Given the description of an element on the screen output the (x, y) to click on. 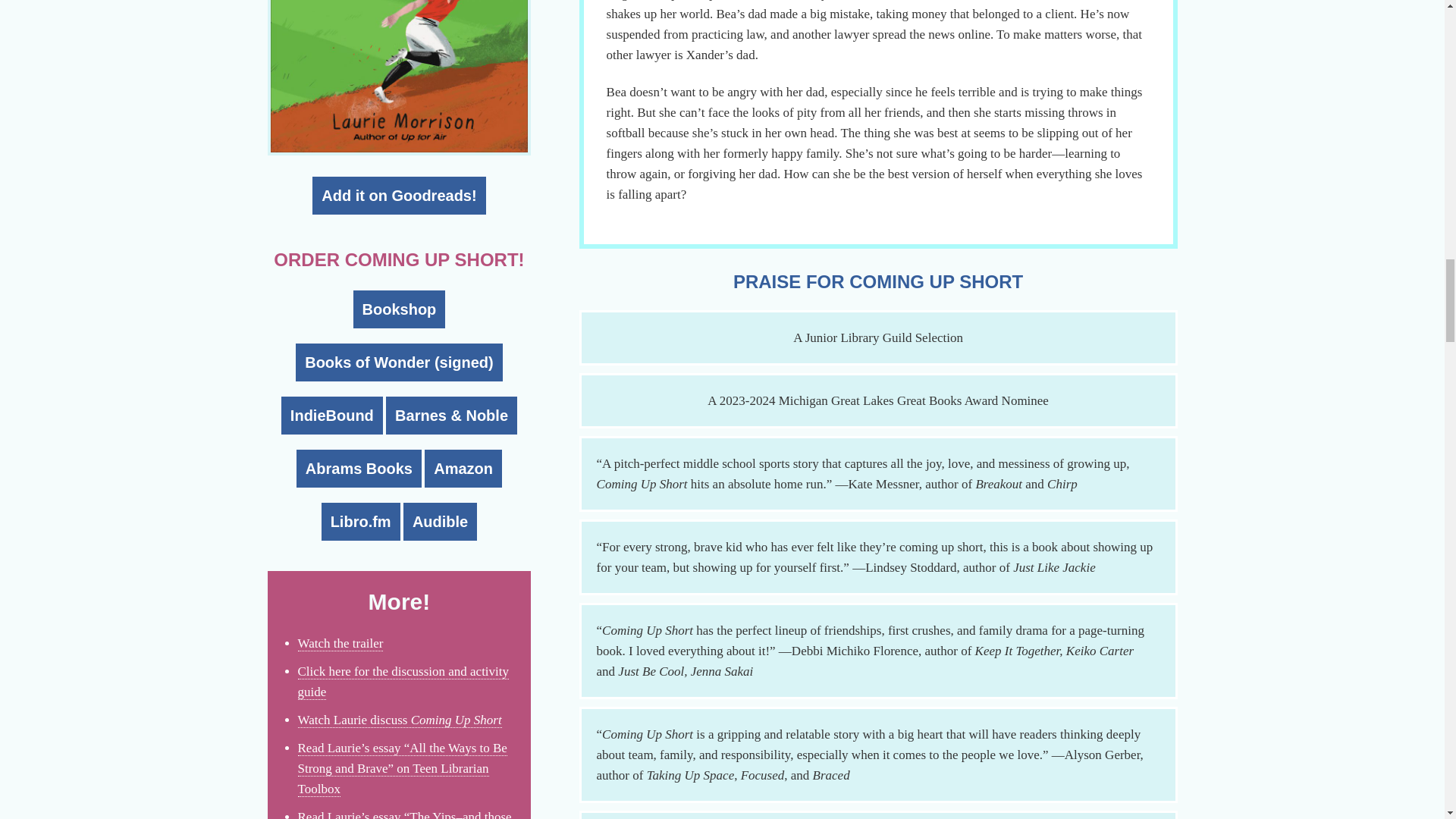
Click here for the discussion and activity guide (402, 682)
Add it on Goodreads! (398, 195)
Audible (440, 521)
Libro.fm (360, 521)
Abrams Books (359, 468)
Watch Laurie discuss Coming Up Short (398, 720)
Bookshop (399, 309)
Amazon (463, 468)
Watch the trailer (339, 643)
IndieBound (331, 415)
